Given the description of an element on the screen output the (x, y) to click on. 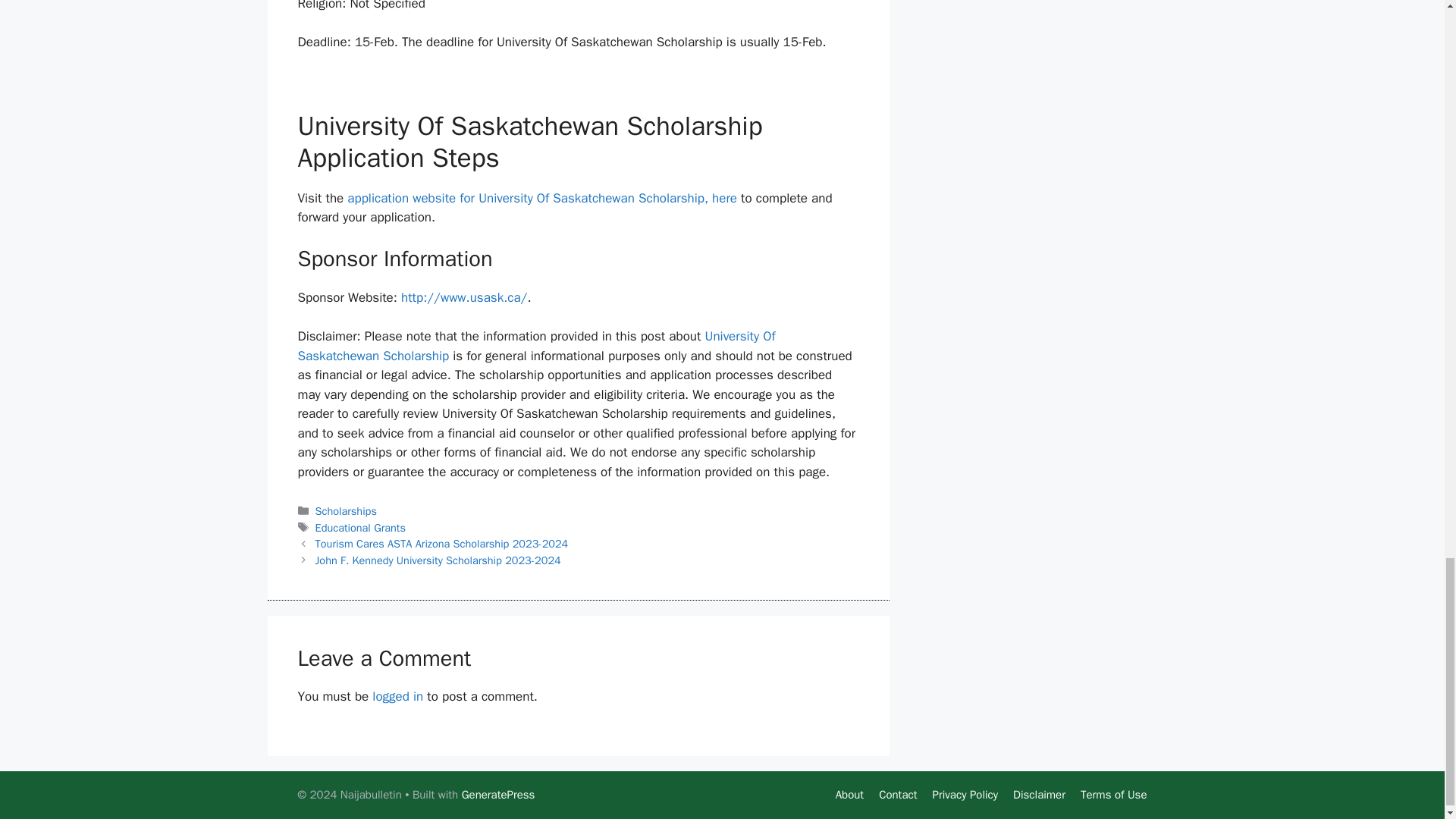
logged in (397, 696)
About (849, 794)
Educational Grants (360, 527)
Contact (898, 794)
Privacy Policy (964, 794)
Terms of Use (1113, 794)
GeneratePress (498, 794)
Scholarships (346, 510)
University Of Saskatchewan Scholarship (535, 345)
John F. Kennedy University Scholarship 2023-2024 (437, 560)
